Given the description of an element on the screen output the (x, y) to click on. 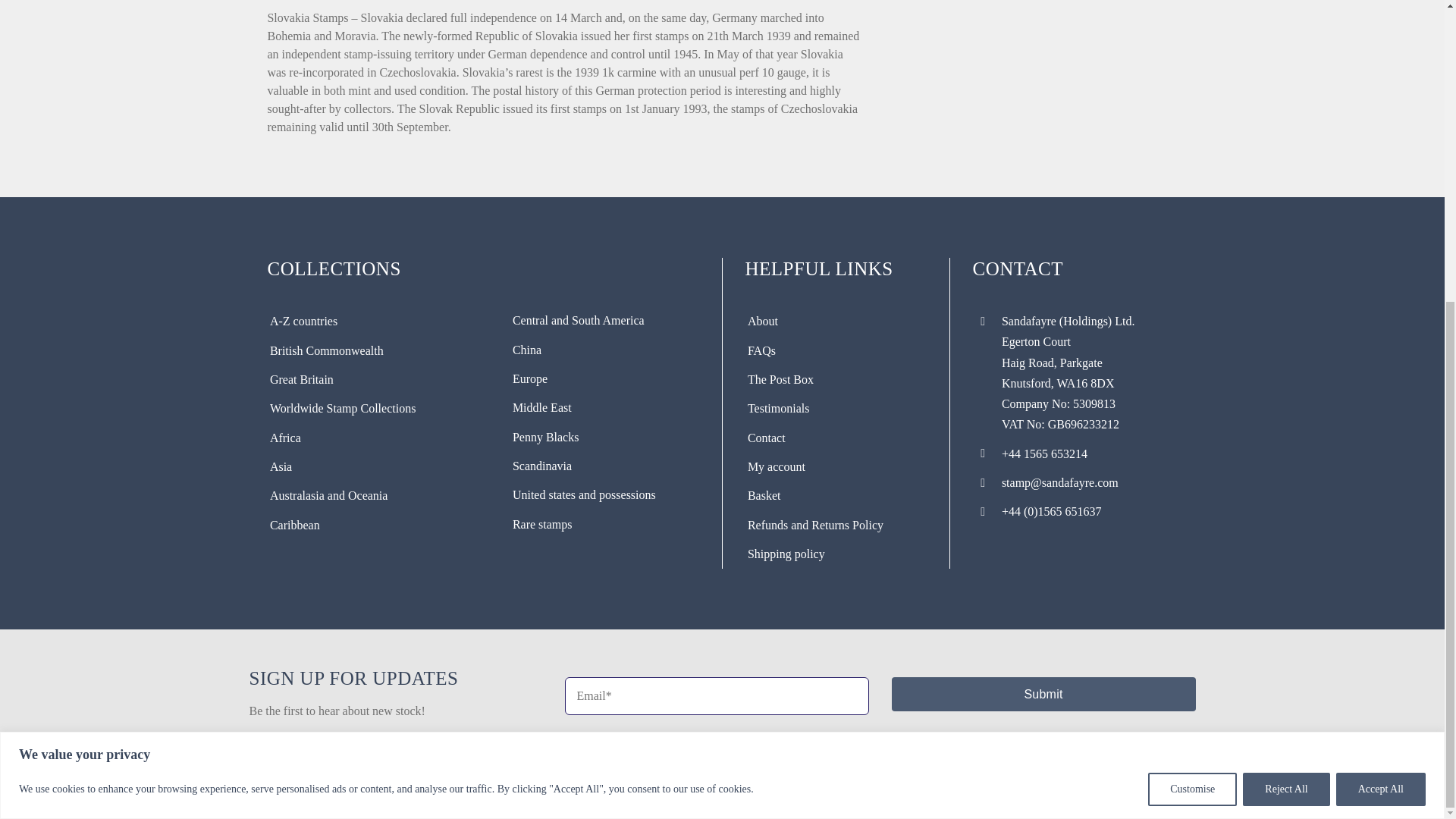
Reject All (1286, 318)
Submit (1043, 694)
Accept All (1380, 318)
Customise (1192, 318)
